Given the description of an element on the screen output the (x, y) to click on. 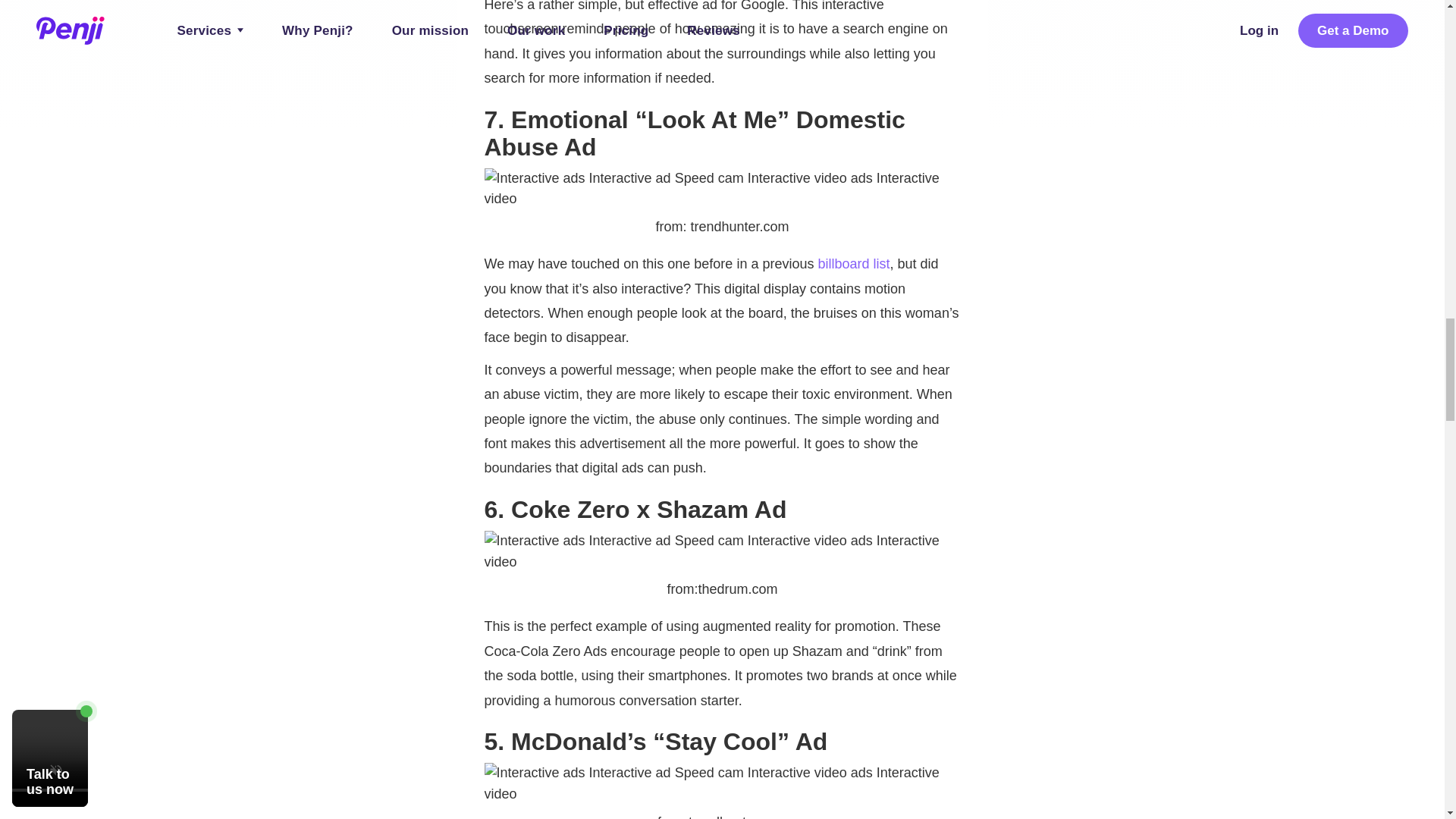
billboard list (852, 263)
